Given the description of an element on the screen output the (x, y) to click on. 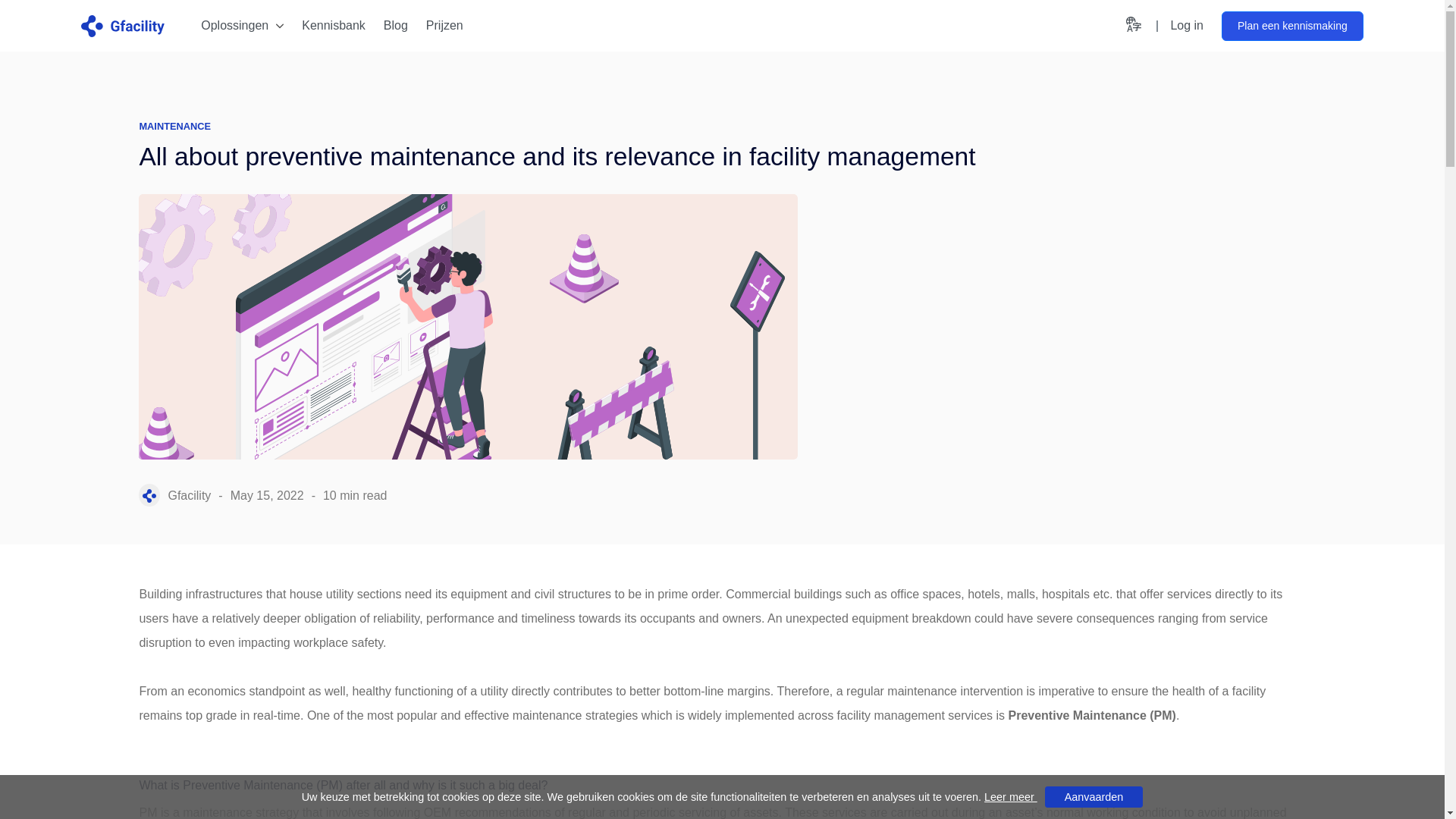
Leer meer (1010, 797)
Plan een kennismaking (1291, 25)
Prijzen (444, 25)
Aanvaarden (1093, 796)
Prijzen (338, 25)
Log in (444, 25)
Oplossingen (1186, 25)
Log in (244, 25)
Blog (1186, 25)
